Given the description of an element on the screen output the (x, y) to click on. 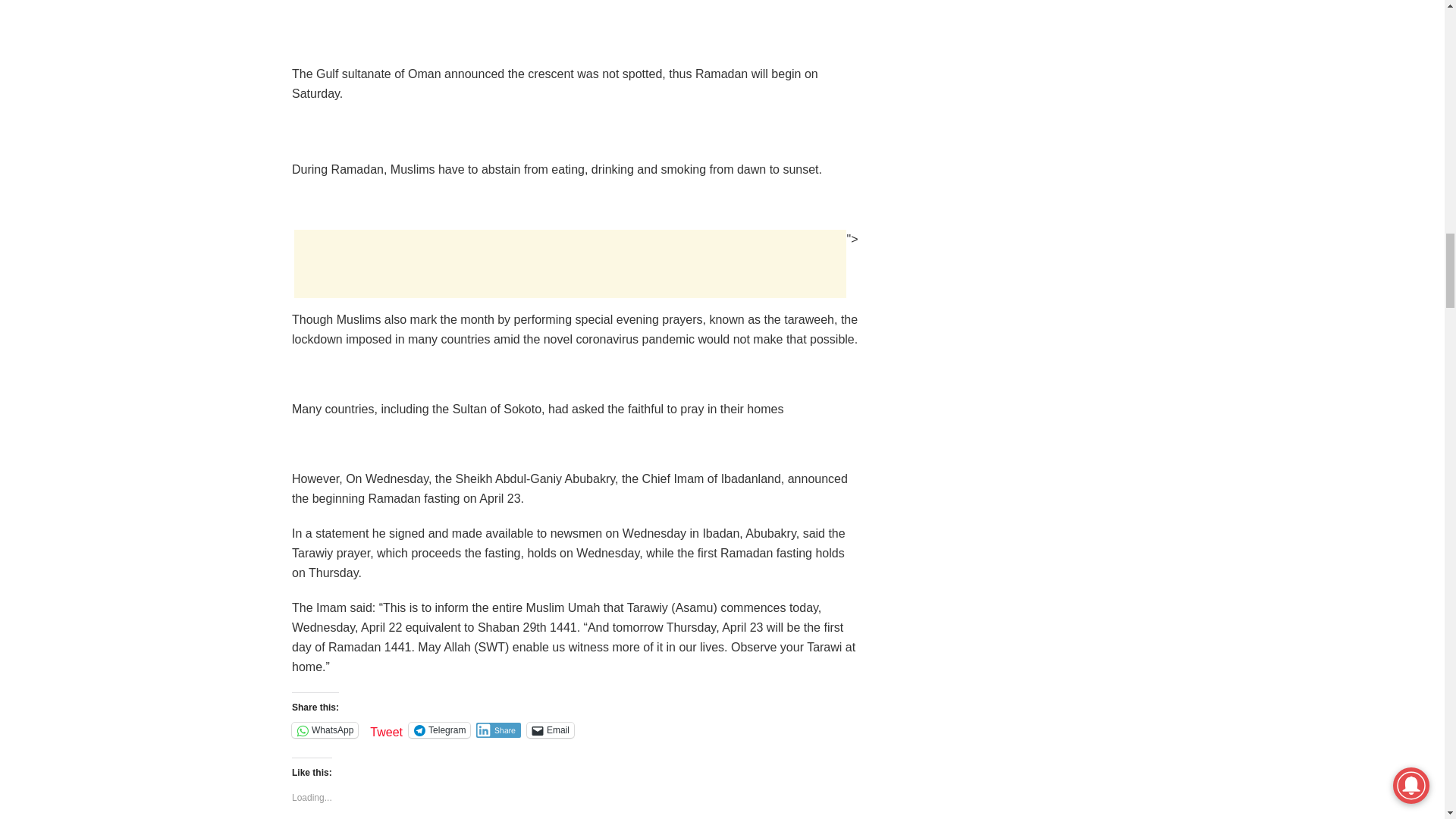
Click to share on WhatsApp (325, 729)
Click to email a link to a friend (550, 729)
Click to share on Telegram (439, 729)
